Given the description of an element on the screen output the (x, y) to click on. 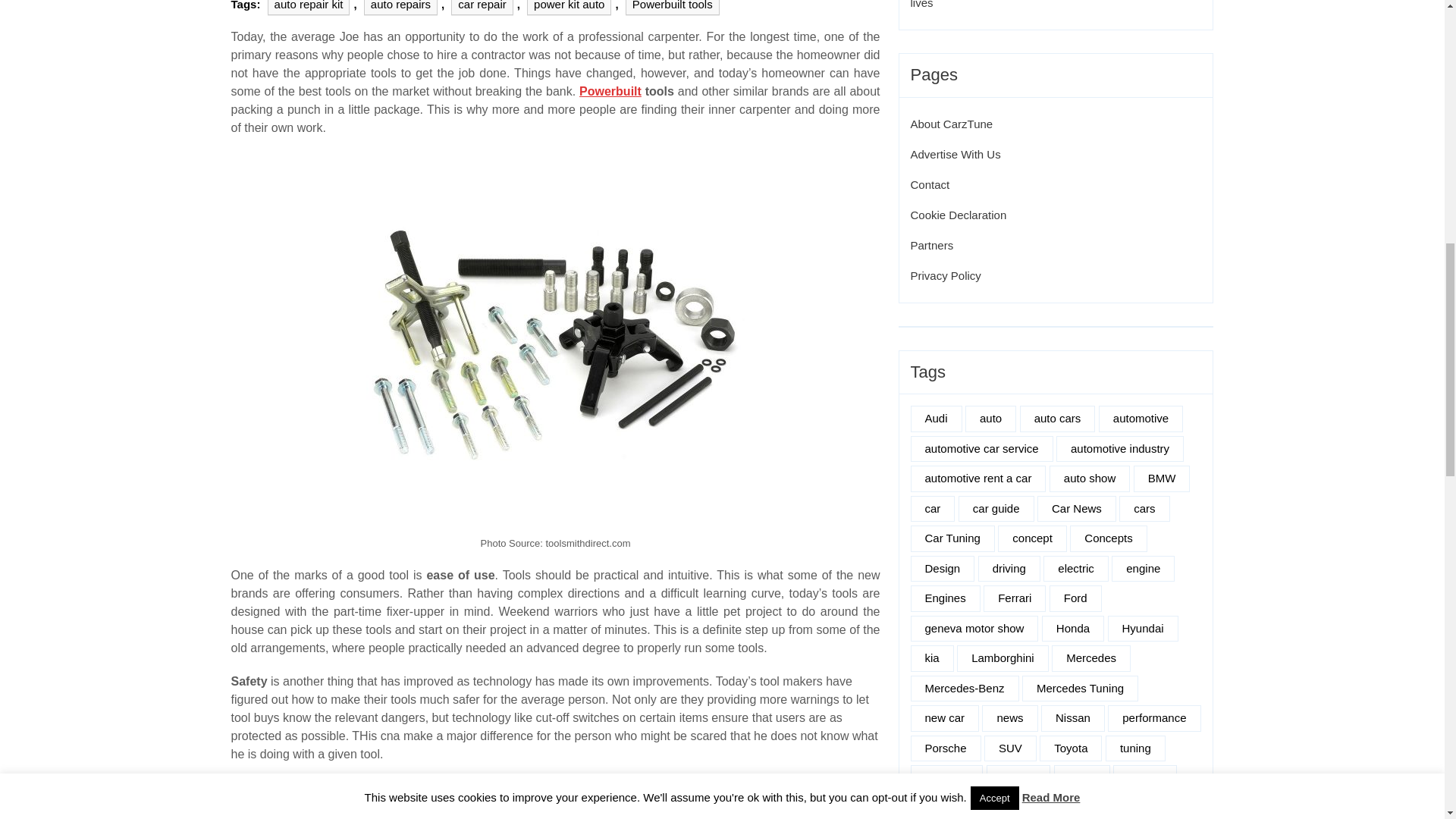
Powerbuilt tools (672, 7)
auto repairs (401, 7)
power kit auto (569, 7)
car repair (481, 7)
Powerbuilt (610, 91)
auto repair kit (308, 7)
